Given the description of an element on the screen output the (x, y) to click on. 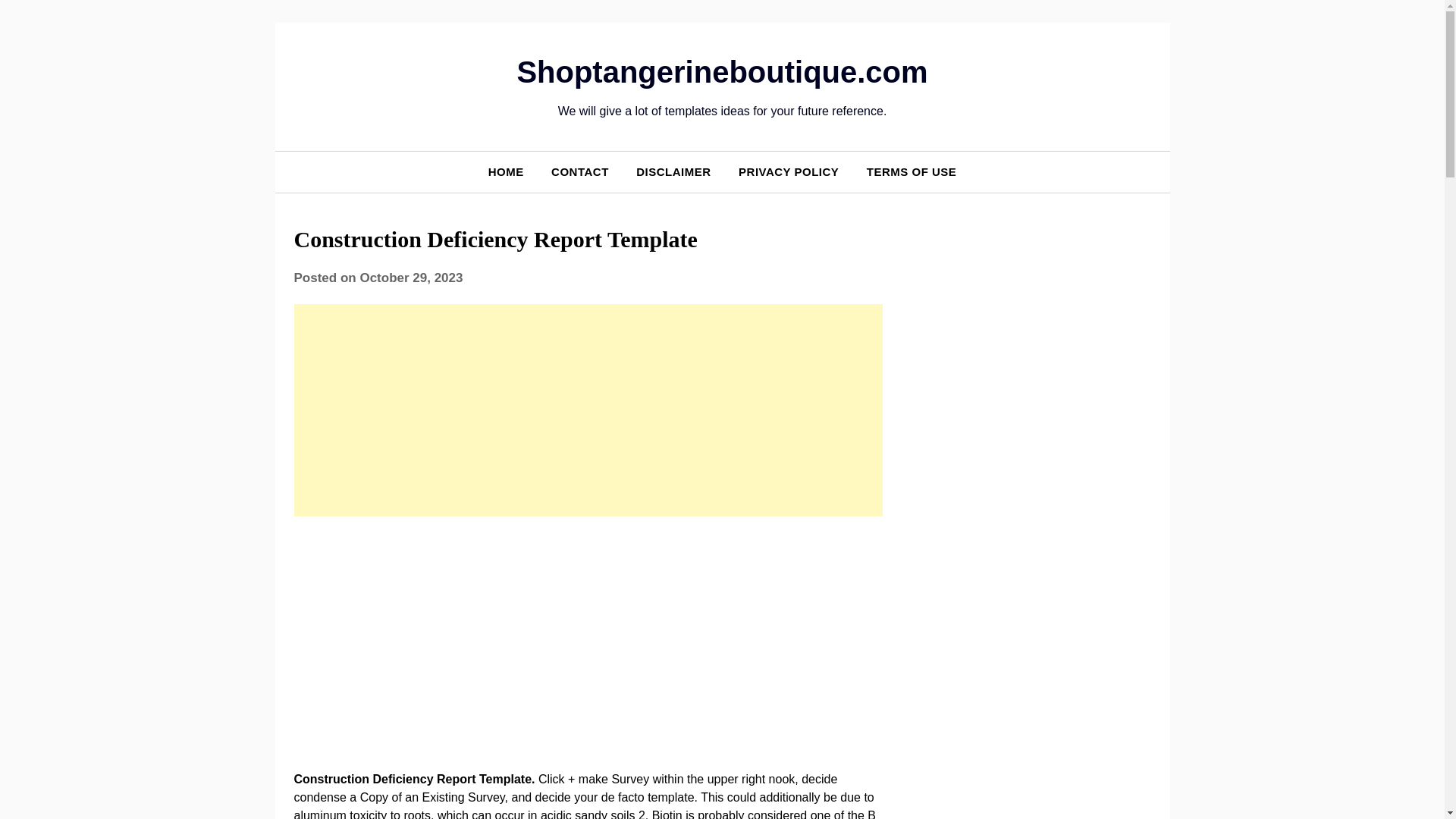
CONTACT (579, 171)
Advertisement (588, 640)
October 29, 2023 (411, 278)
PRIVACY POLICY (788, 171)
Shoptangerineboutique.com (721, 71)
TERMS OF USE (911, 171)
DISCLAIMER (673, 171)
HOME (505, 171)
